Given the description of an element on the screen output the (x, y) to click on. 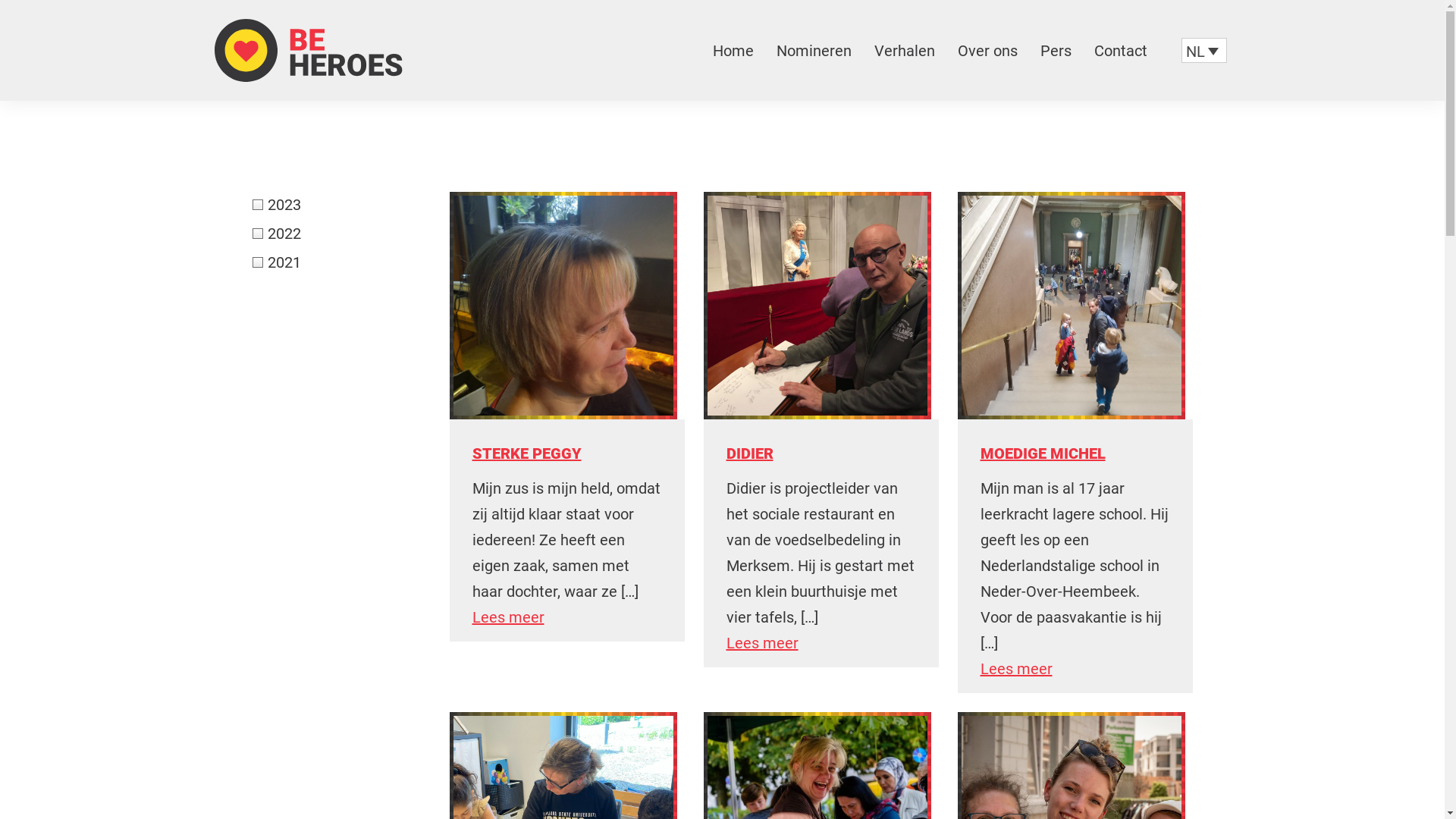
STERKE PEGGY Element type: text (525, 453)
Pers Element type: text (1055, 50)
Lees meer Element type: text (1015, 668)
NL Element type: text (1203, 50)
DIDIER Element type: text (749, 453)
Lees meer Element type: text (507, 617)
Verhalen Element type: text (903, 50)
Over ons Element type: text (986, 50)
Nomineren Element type: text (813, 50)
MOEDIGE MICHEL Element type: text (1041, 453)
Home Element type: text (732, 50)
Lees meer Element type: text (762, 642)
Contact Element type: text (1119, 50)
